Given the description of an element on the screen output the (x, y) to click on. 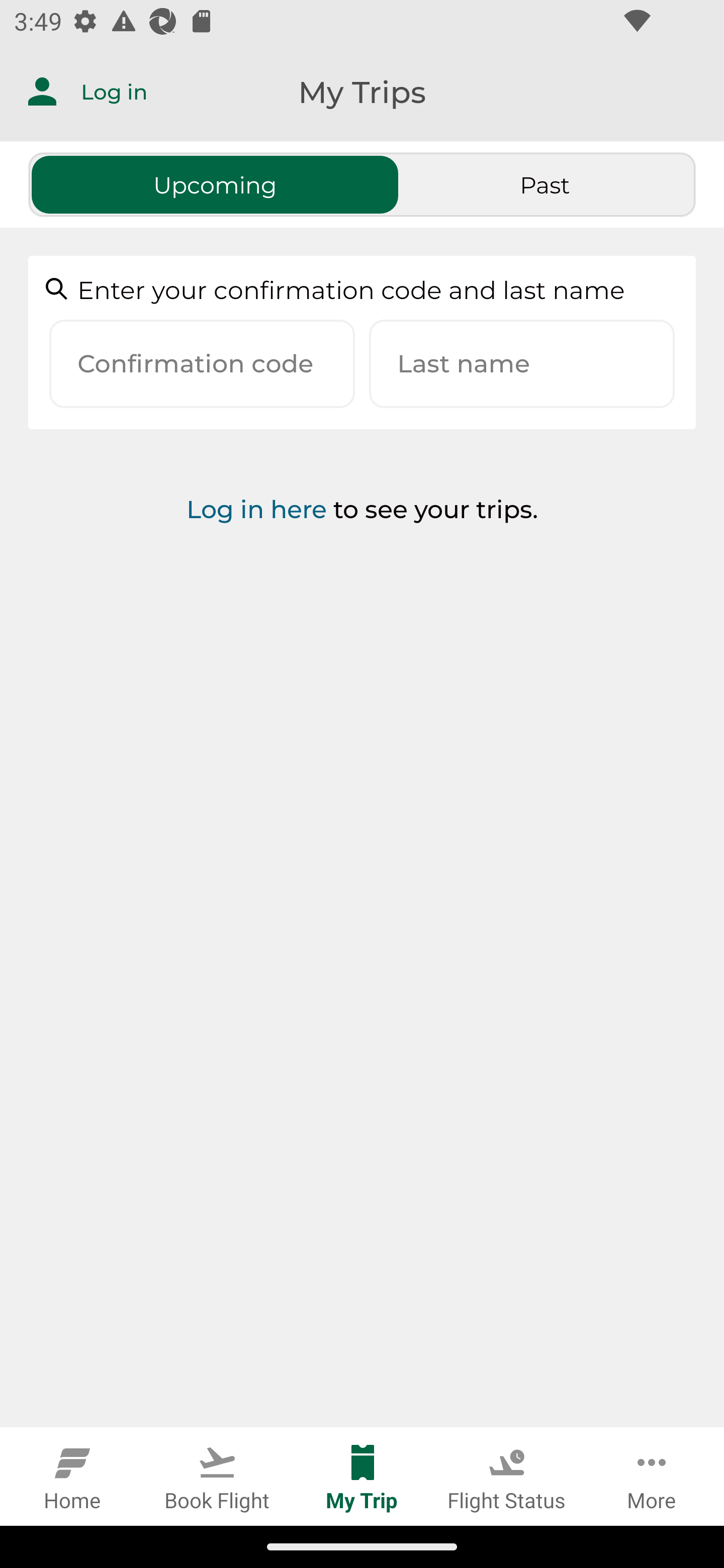
Log in (73, 91)
Upcoming (214, 184)
Past (545, 184)
Confirmation code (201, 363)
Last name (521, 363)
Log in here to see your trips. (362, 560)
Home (72, 1475)
Book Flight (216, 1475)
Flight Status (506, 1475)
More (651, 1475)
